Given the description of an element on the screen output the (x, y) to click on. 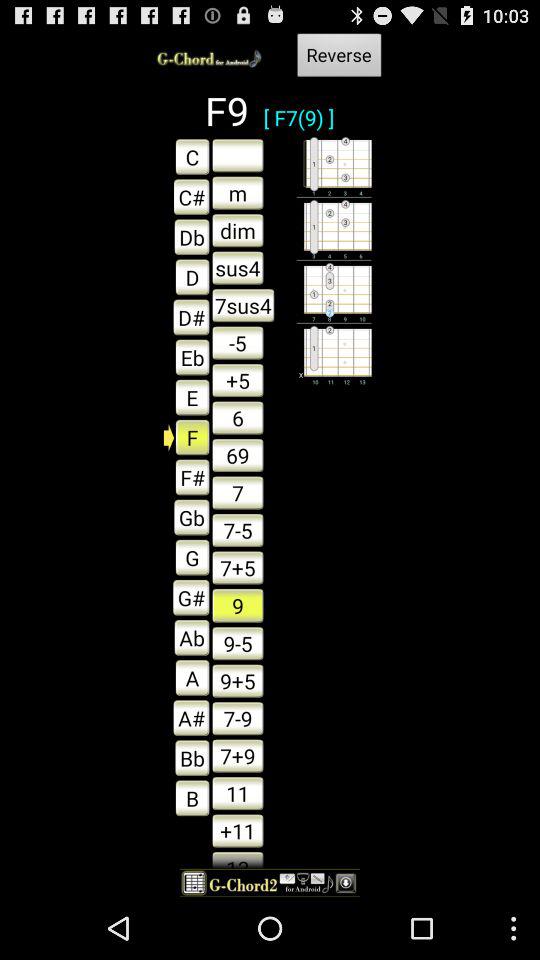
click the button next to f icon (237, 455)
